Given the description of an element on the screen output the (x, y) to click on. 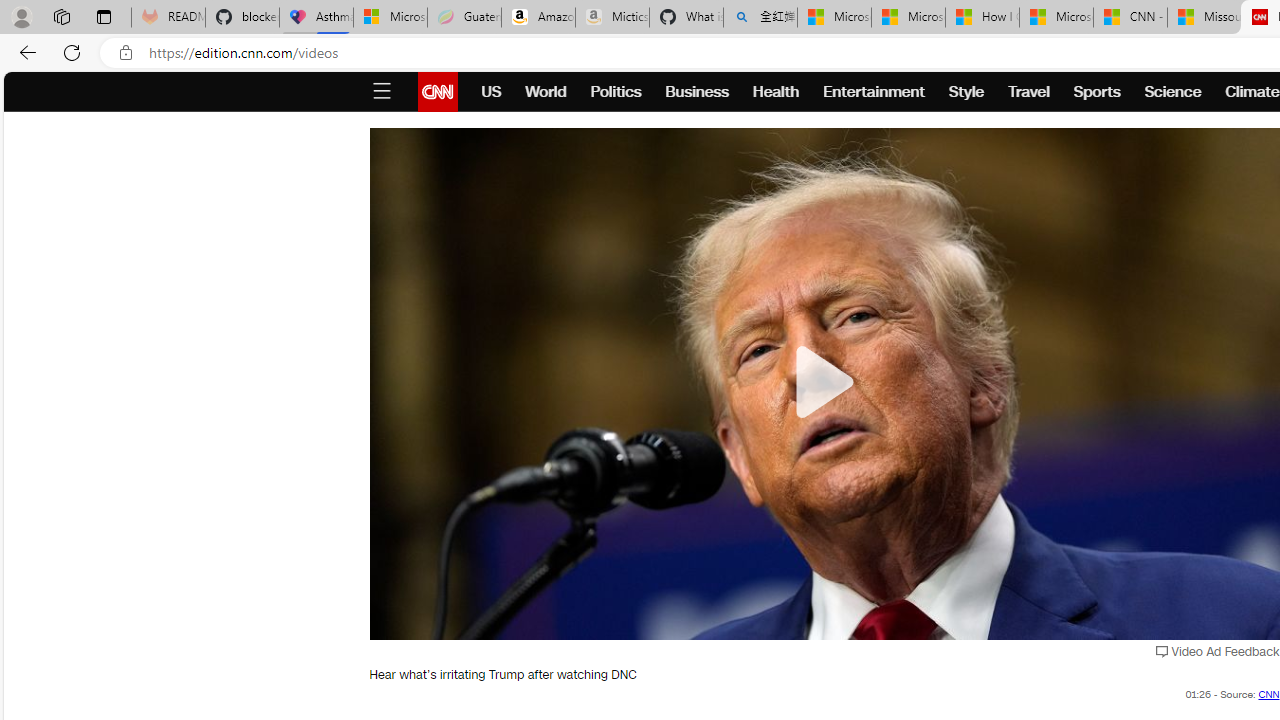
Climate (1252, 92)
